Given the description of an element on the screen output the (x, y) to click on. 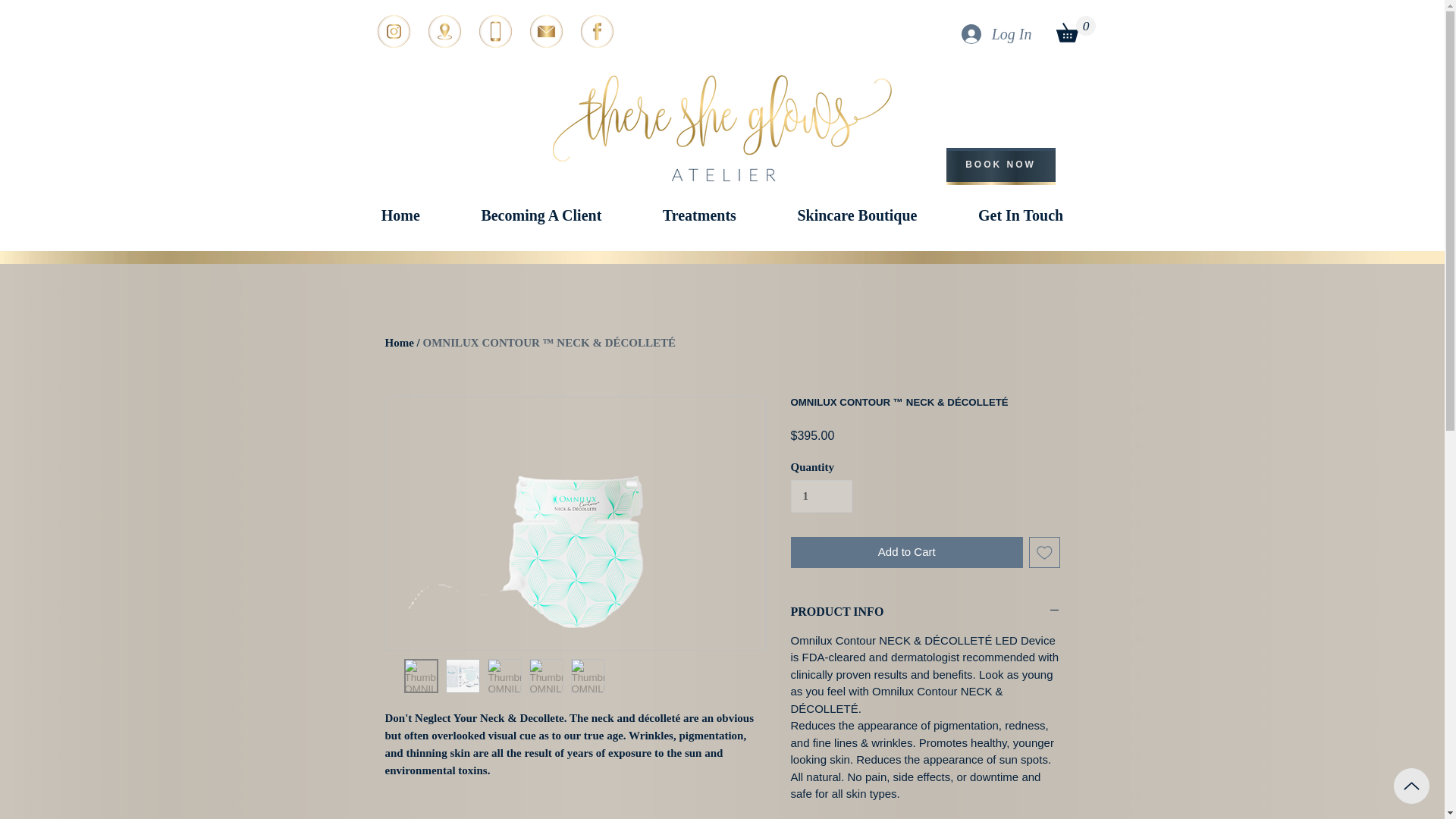
0 (1074, 28)
0 (1074, 28)
Home (399, 215)
1 (820, 496)
Home (399, 342)
BOOK NOW (1000, 164)
Log In (996, 33)
